Given the description of an element on the screen output the (x, y) to click on. 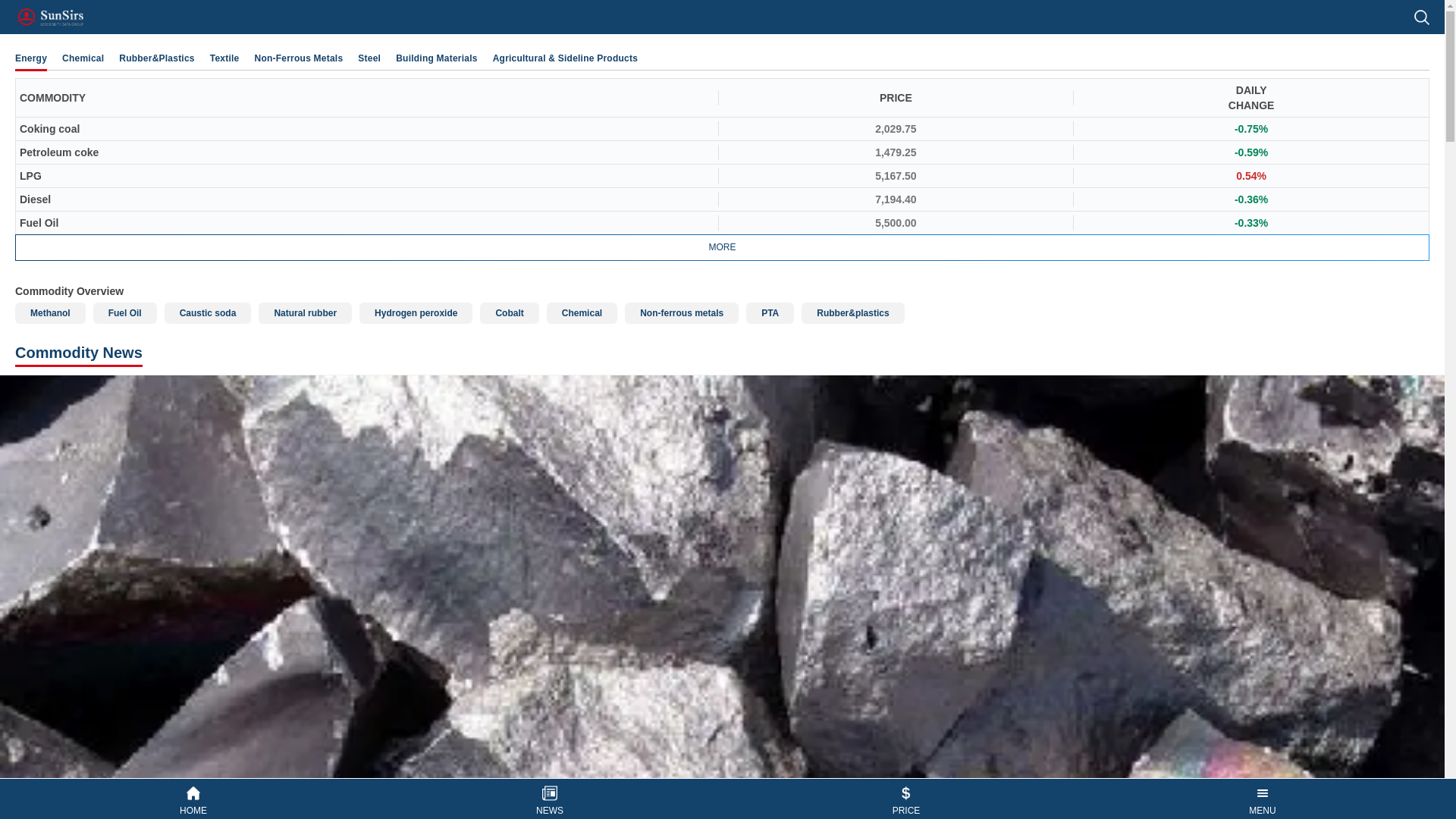
Non-ferrous metals (681, 312)
Steel (369, 58)
Natural rubber (305, 312)
PTA (769, 312)
Energy (30, 58)
Cobalt (509, 312)
Non-Ferrous Metals (298, 58)
Hydrogen peroxide (415, 312)
Building Materials (436, 58)
Chemical (582, 312)
Caustic soda (207, 312)
MORE (722, 247)
Methanol (49, 312)
Textile (224, 58)
Chemical (82, 58)
